Given the description of an element on the screen output the (x, y) to click on. 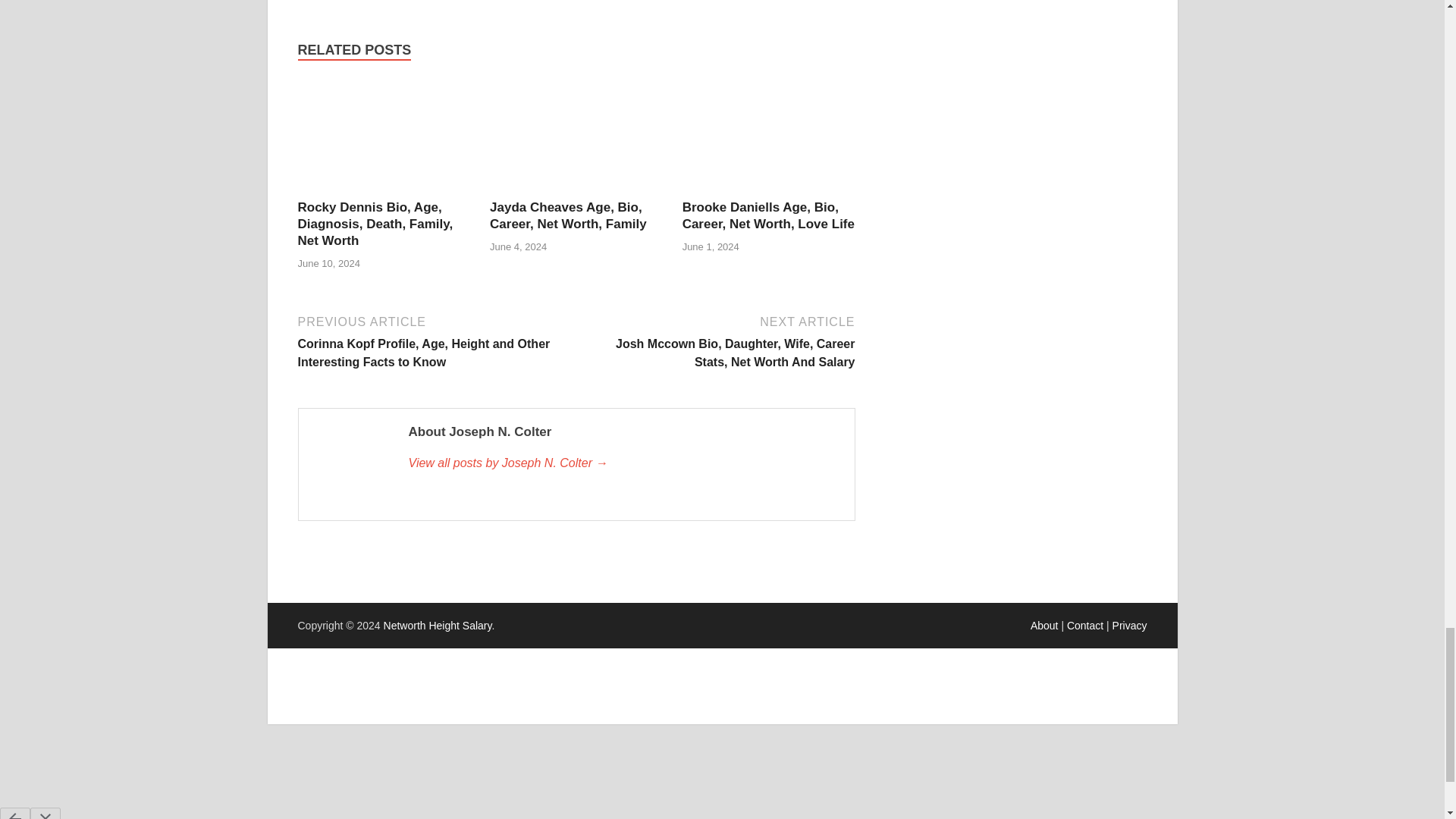
Jayda Cheaves Age, Bio, Career, Net Worth, Family (575, 189)
Joseph N. Colter (622, 463)
Rocky Dennis Bio, Age, Diagnosis, Death, Family, Net Worth (383, 189)
Rocky Dennis Bio, Age, Diagnosis, Death, Family, Net Worth (374, 223)
Jayda Cheaves Age, Bio, Career, Net Worth, Family (567, 214)
Brooke Daniells Age, Bio, Career, Net Worth, Love Life (768, 214)
Brooke Daniells Age, Bio, Career, Net Worth, Love Life (769, 189)
